Given the description of an element on the screen output the (x, y) to click on. 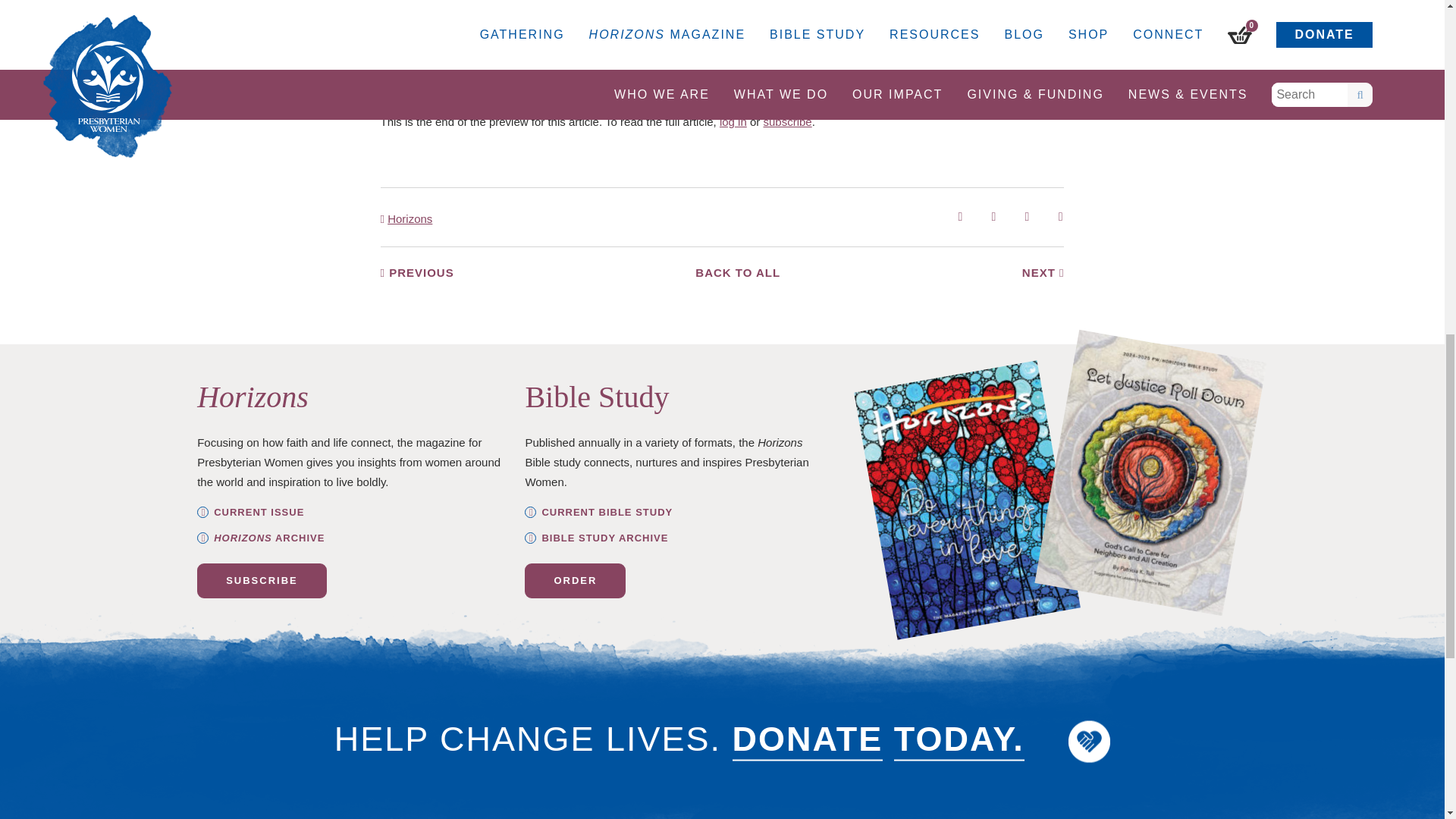
Go to Presbyterian Women. (54, 36)
Go to the Horizons category archives. (90, 0)
Go to News. (239, 27)
Horizons (406, 218)
